Given the description of an element on the screen output the (x, y) to click on. 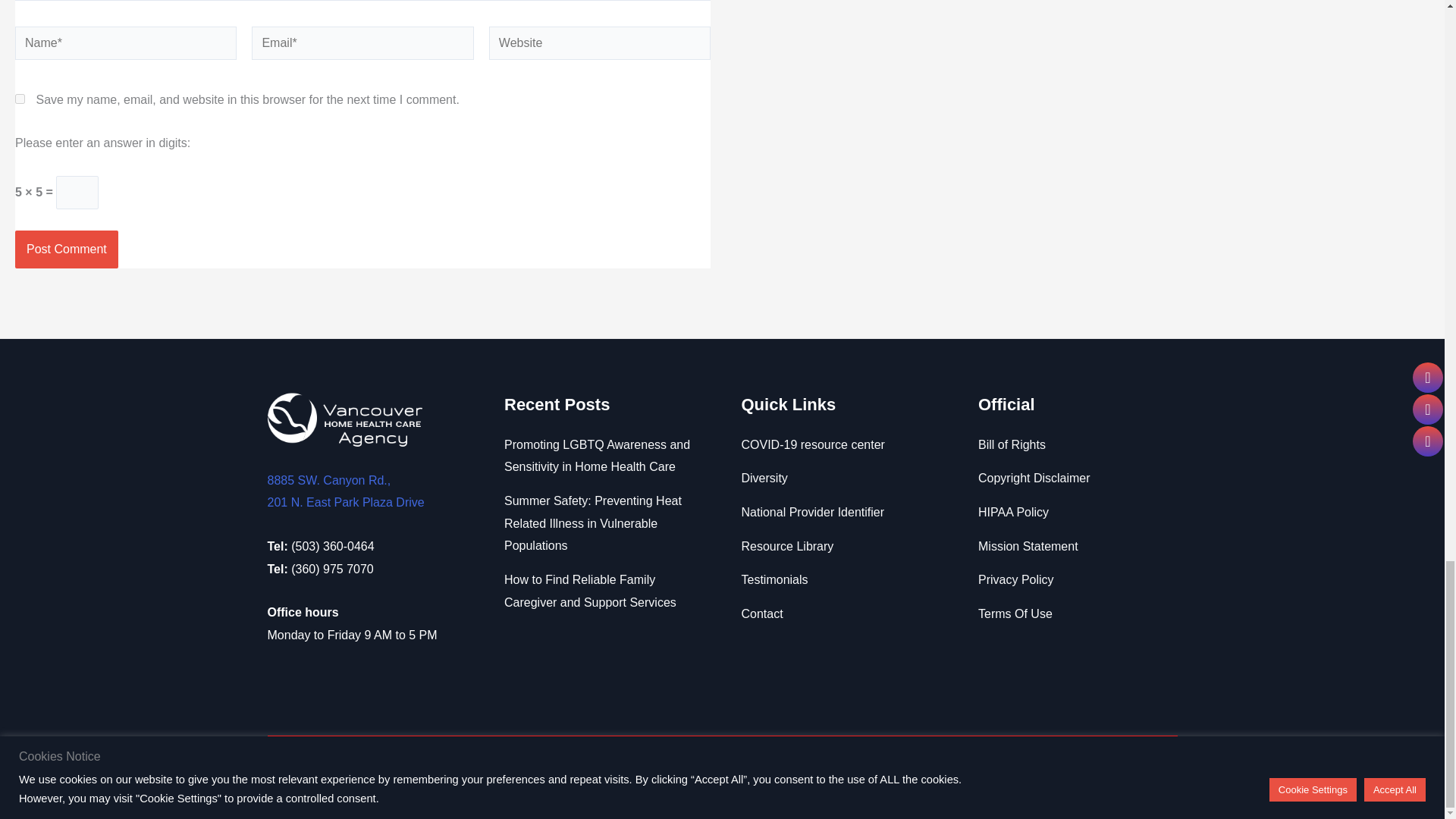
yes (19, 98)
Post Comment (65, 249)
